Given the description of an element on the screen output the (x, y) to click on. 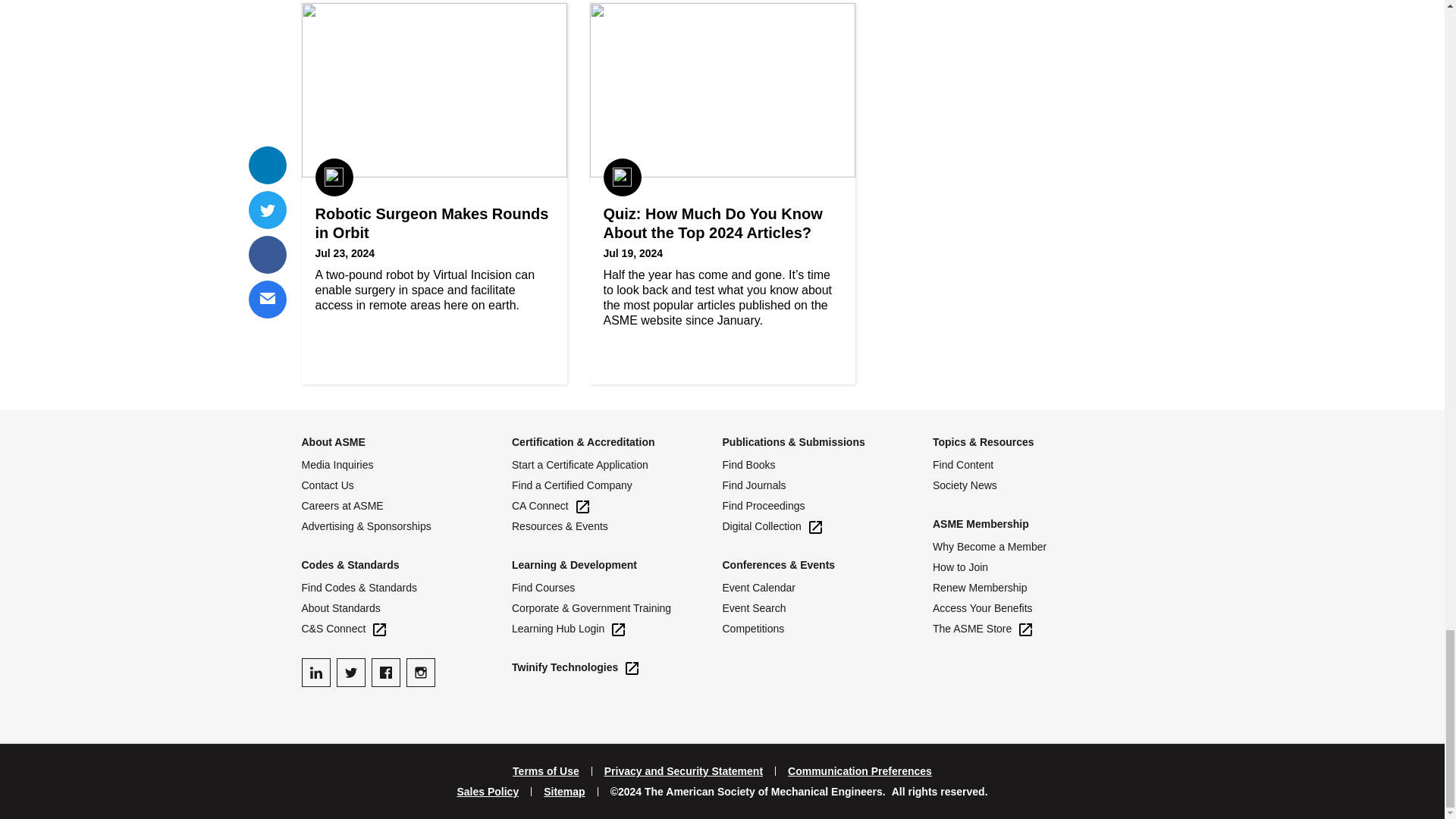
ASME on Instagram (420, 672)
ASME on Twitter (350, 672)
ASME on LinkedIn (315, 672)
ASME on Facebook (385, 672)
